Given the description of an element on the screen output the (x, y) to click on. 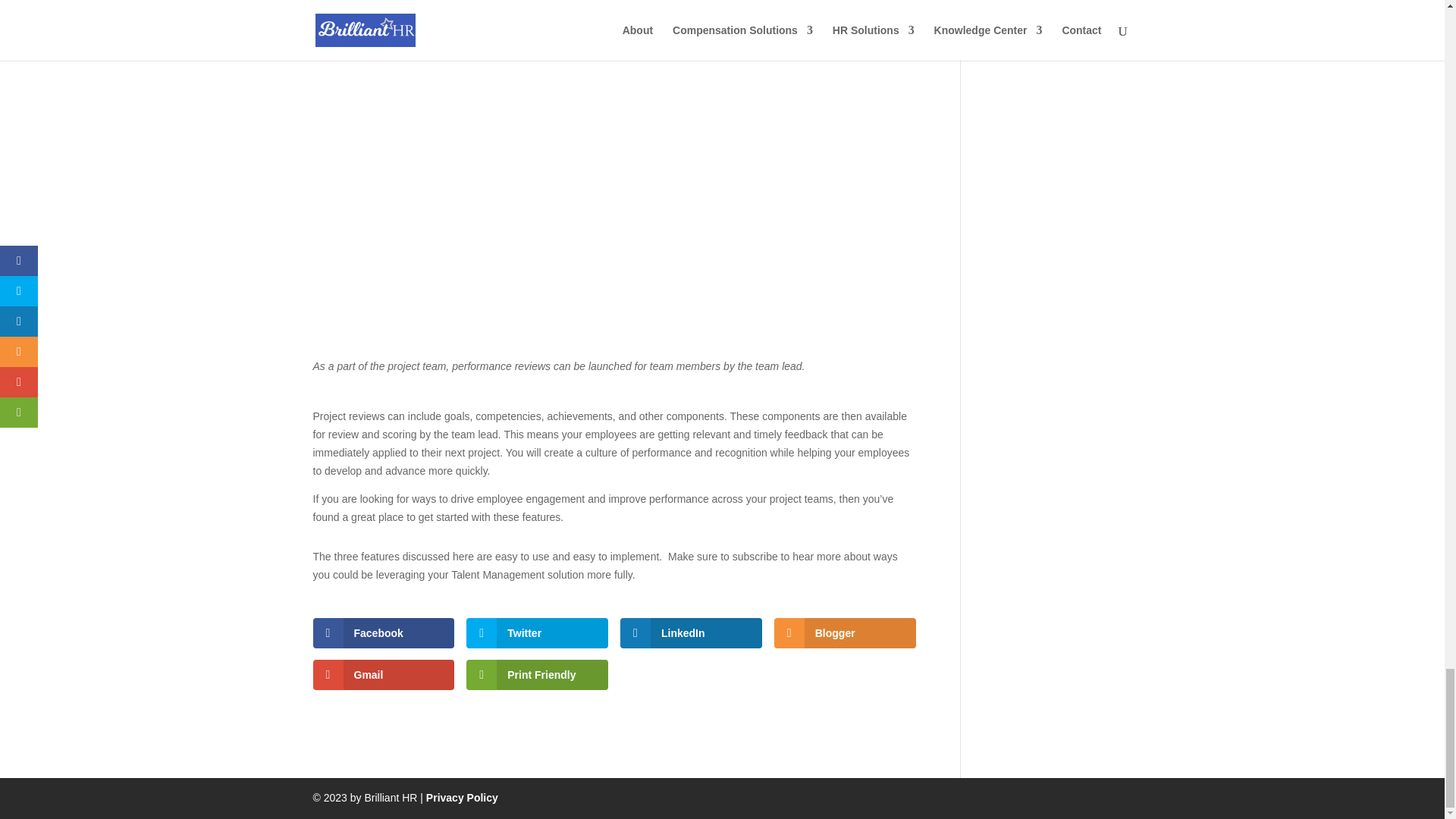
Twitter 0 (536, 633)
LinkedIn 1 (690, 633)
Facebook 0 (383, 633)
Blogger 0 (844, 633)
